Given the description of an element on the screen output the (x, y) to click on. 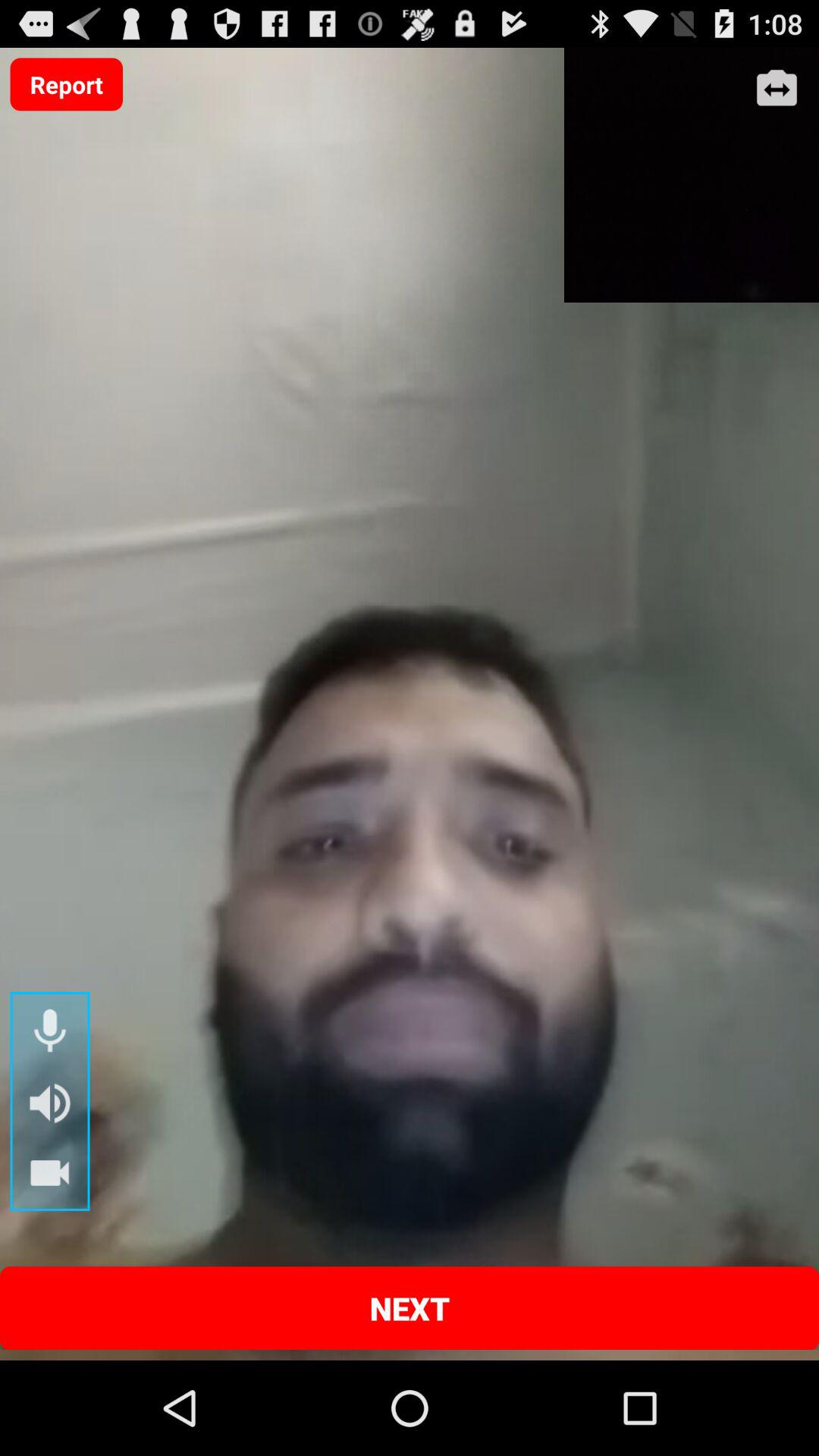
enlarge screen (776, 89)
